Given the description of an element on the screen output the (x, y) to click on. 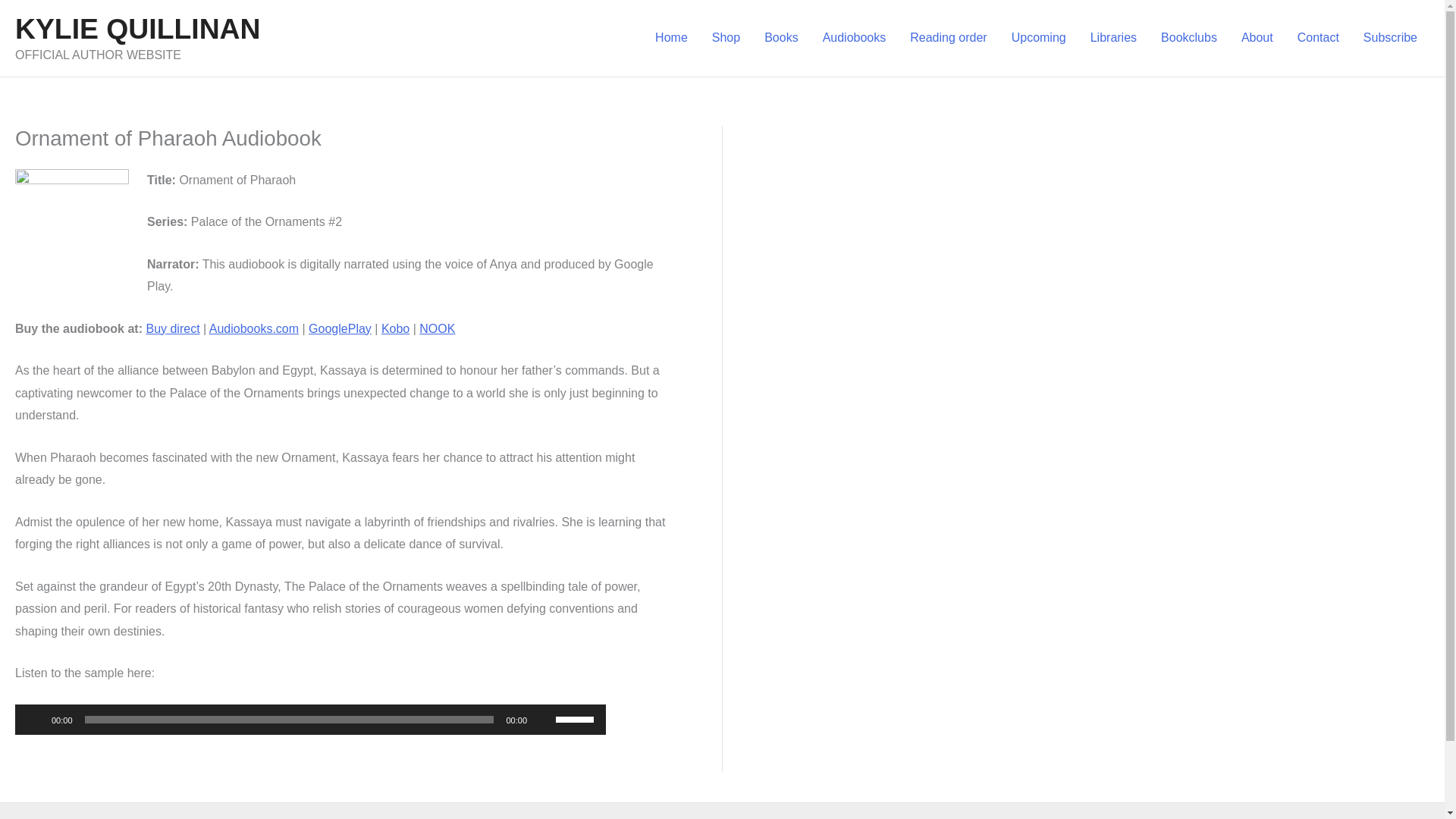
Kobo (395, 328)
Bookclubs (1188, 37)
Audiobooks (854, 37)
About (1256, 37)
Mute (543, 719)
Upcoming (1038, 37)
Audiobooks.com (253, 328)
Books (780, 37)
Contact (1318, 37)
KYLIE QUILLINAN (137, 29)
GooglePlay (339, 328)
Home (671, 37)
Buy direct (172, 328)
Libraries (1113, 37)
Reading order (948, 37)
